Given the description of an element on the screen output the (x, y) to click on. 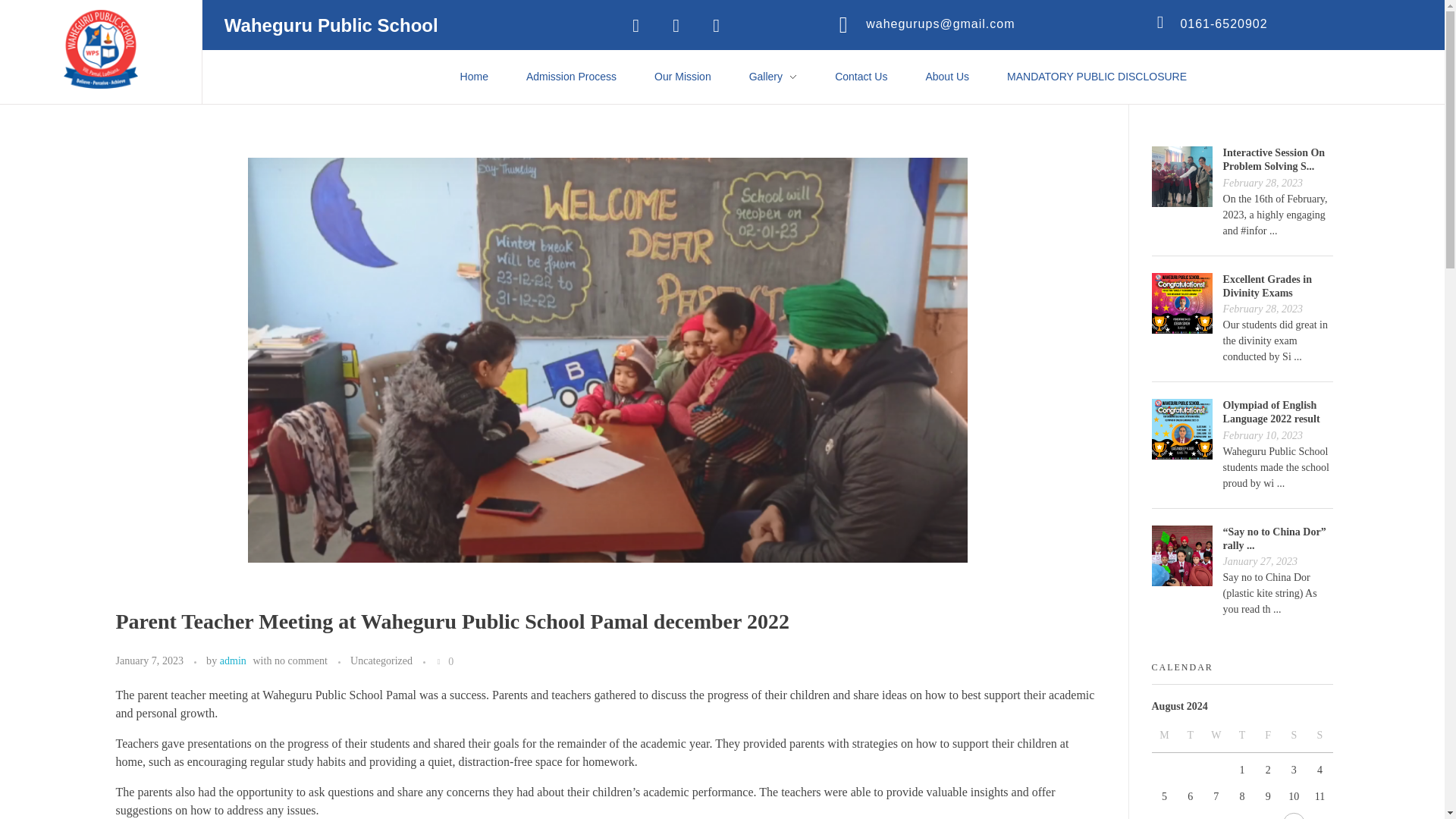
Our Mission (682, 76)
Admission Process (570, 76)
admin (232, 660)
MANDATORY PUBLIC DISCLOSURE (1096, 76)
Olympiad of English Language 2022 result (1271, 412)
Waheguru Public School (101, 48)
View all posts by admin (232, 660)
About Us (946, 76)
Waheguru Public School (162, 96)
Home (473, 76)
